Given the description of an element on the screen output the (x, y) to click on. 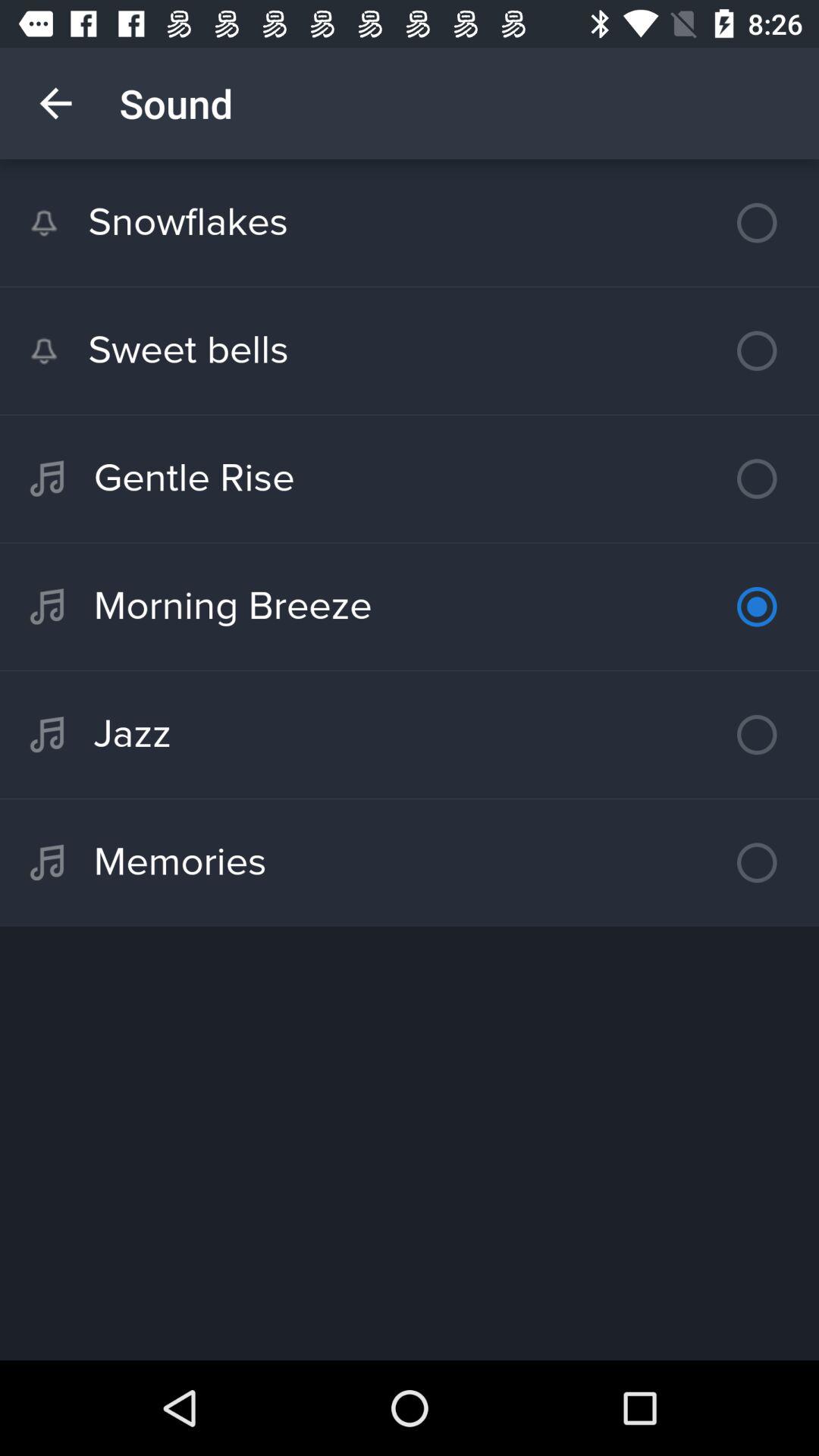
jump until the morning breeze icon (409, 606)
